Given the description of an element on the screen output the (x, y) to click on. 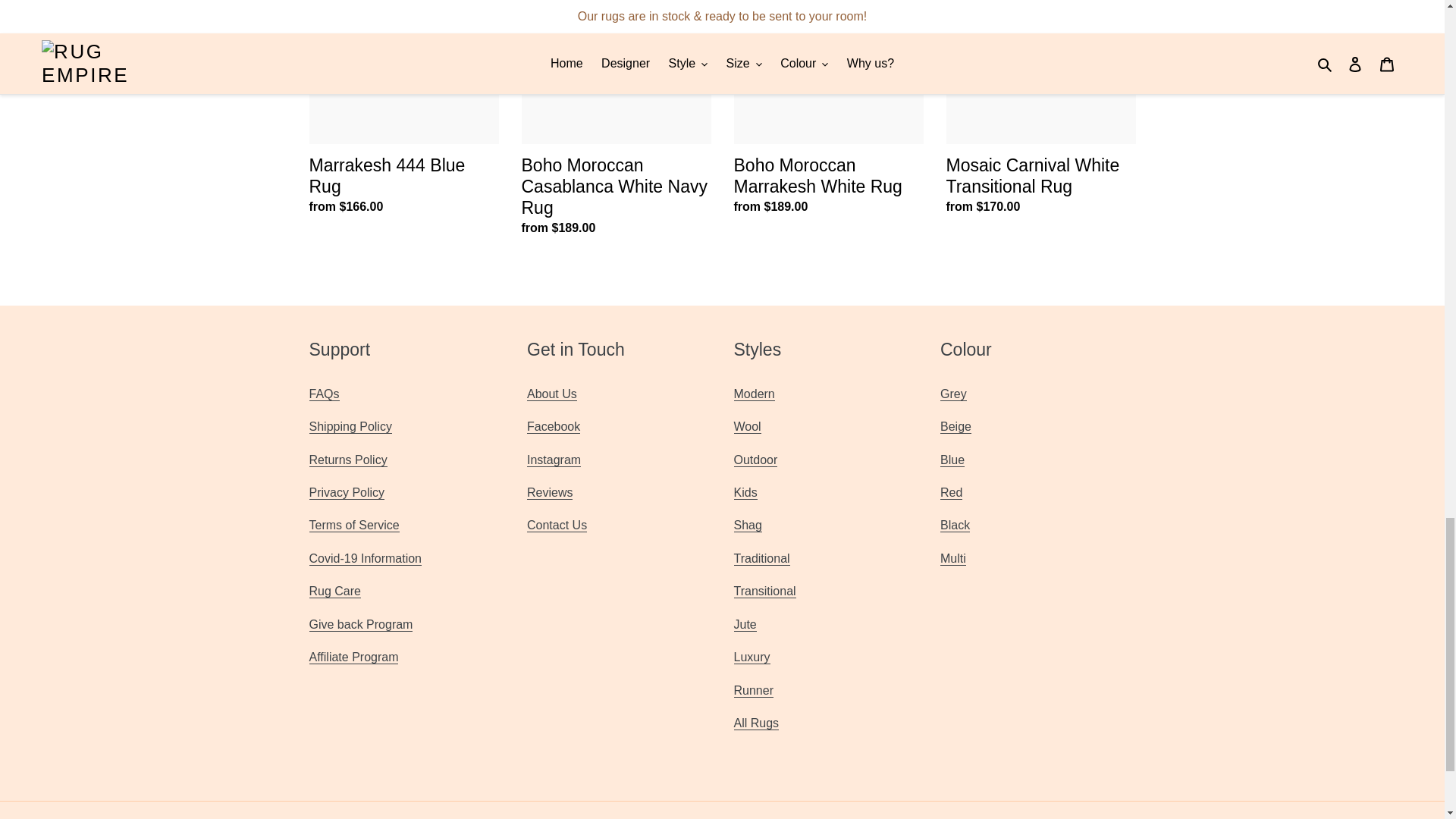
All Rugs (755, 723)
Rug Reviews (549, 492)
Contact Us (556, 525)
RUG WASH AND CARE (334, 591)
Why Rug Empire ? (551, 394)
COVID-19 (365, 558)
Affiliate Program (353, 657)
Runner (753, 690)
Noor Relief (360, 624)
SHIPPING POLICY (349, 427)
Luxury Range (751, 657)
Transitional (764, 591)
